Given the description of an element on the screen output the (x, y) to click on. 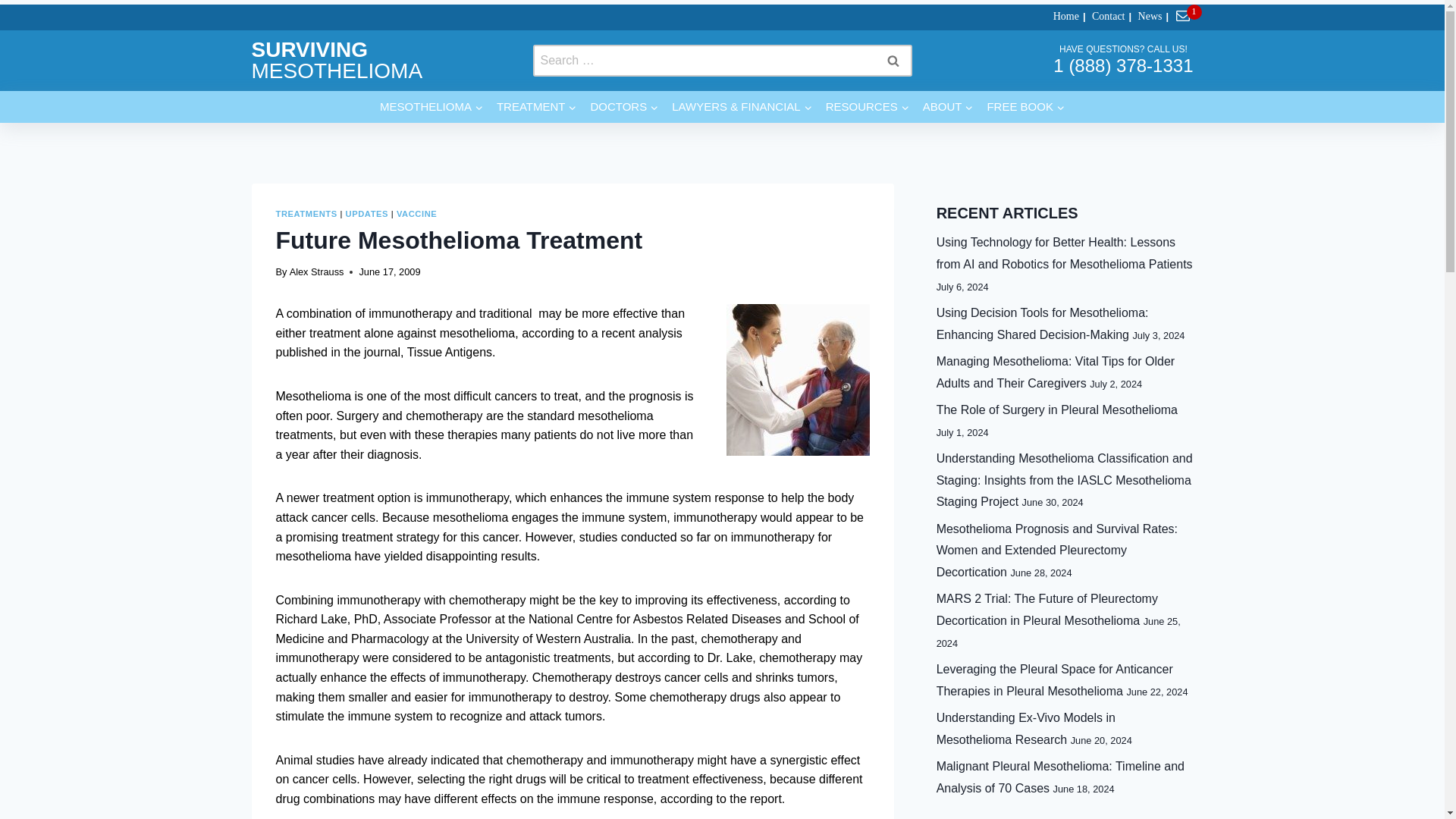
SURVIVING MESOTHELIOMA (337, 59)
Search (892, 60)
Home (1060, 17)
Search (892, 60)
Call Surviving Mesothelioma (1122, 65)
News (1144, 17)
Contact (1102, 17)
Notifications (1185, 16)
Search (892, 60)
MESOTHELIOMA (430, 106)
